Given the description of an element on the screen output the (x, y) to click on. 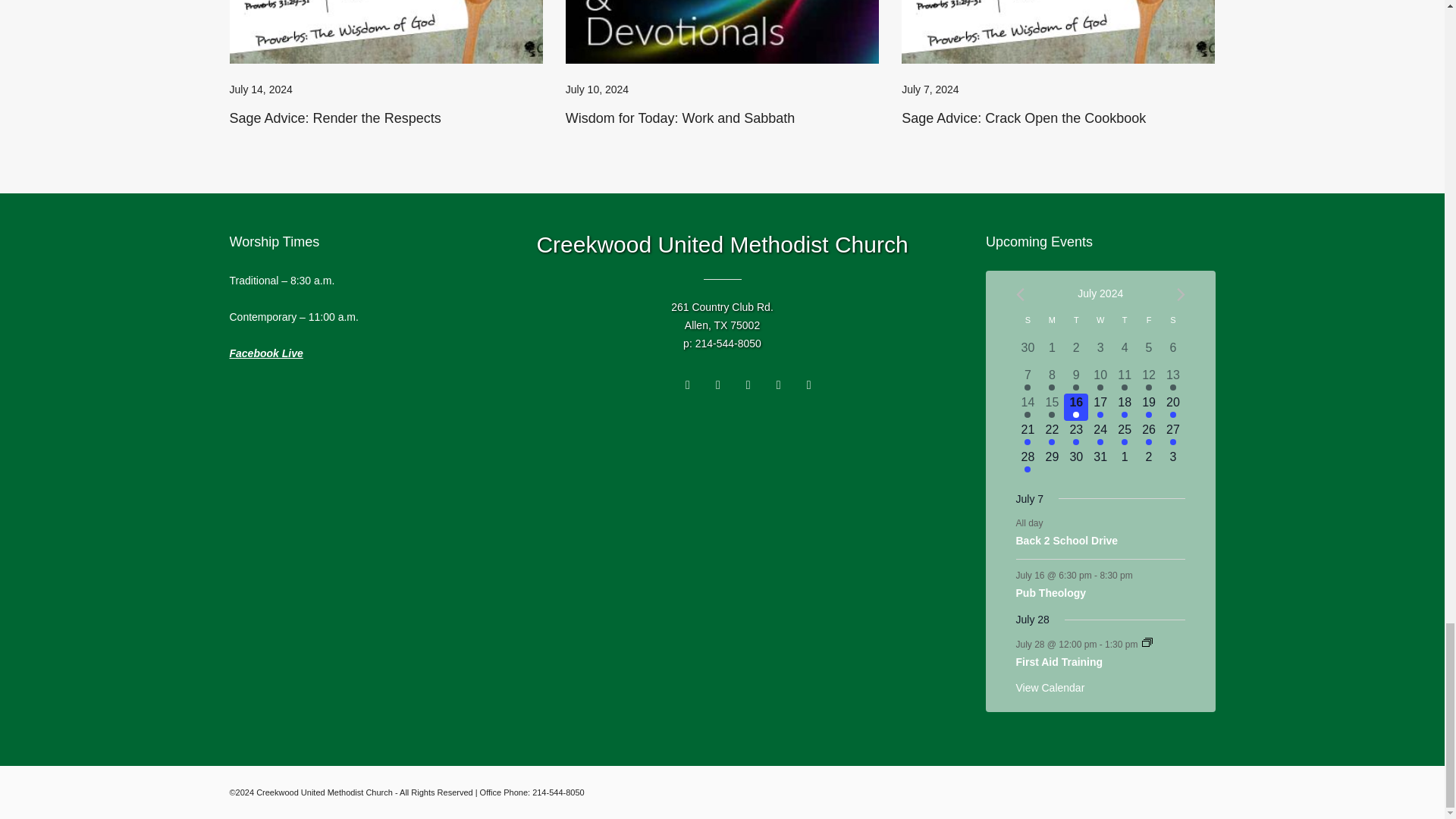
Has events (1123, 387)
Has events (1027, 414)
Has events (1051, 387)
Has events (1075, 387)
Has events (1148, 387)
Has events (1027, 387)
Has events (1173, 387)
Event Series (1147, 642)
Has events (1100, 387)
